Given the description of an element on the screen output the (x, y) to click on. 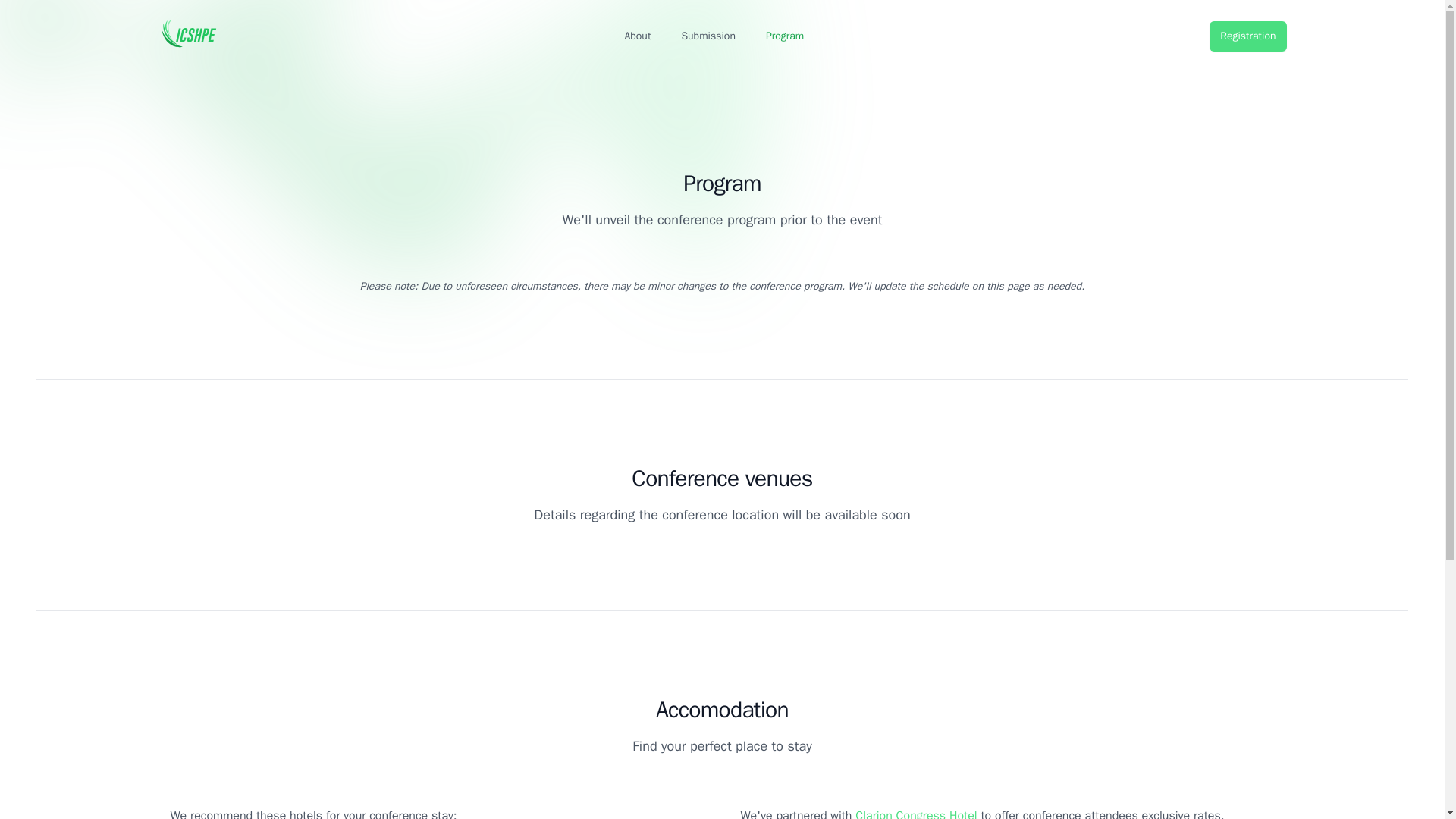
Program (784, 36)
Clarion Congress Hotel (916, 813)
Submission (708, 36)
Registration (1247, 36)
About (637, 36)
